Given the description of an element on the screen output the (x, y) to click on. 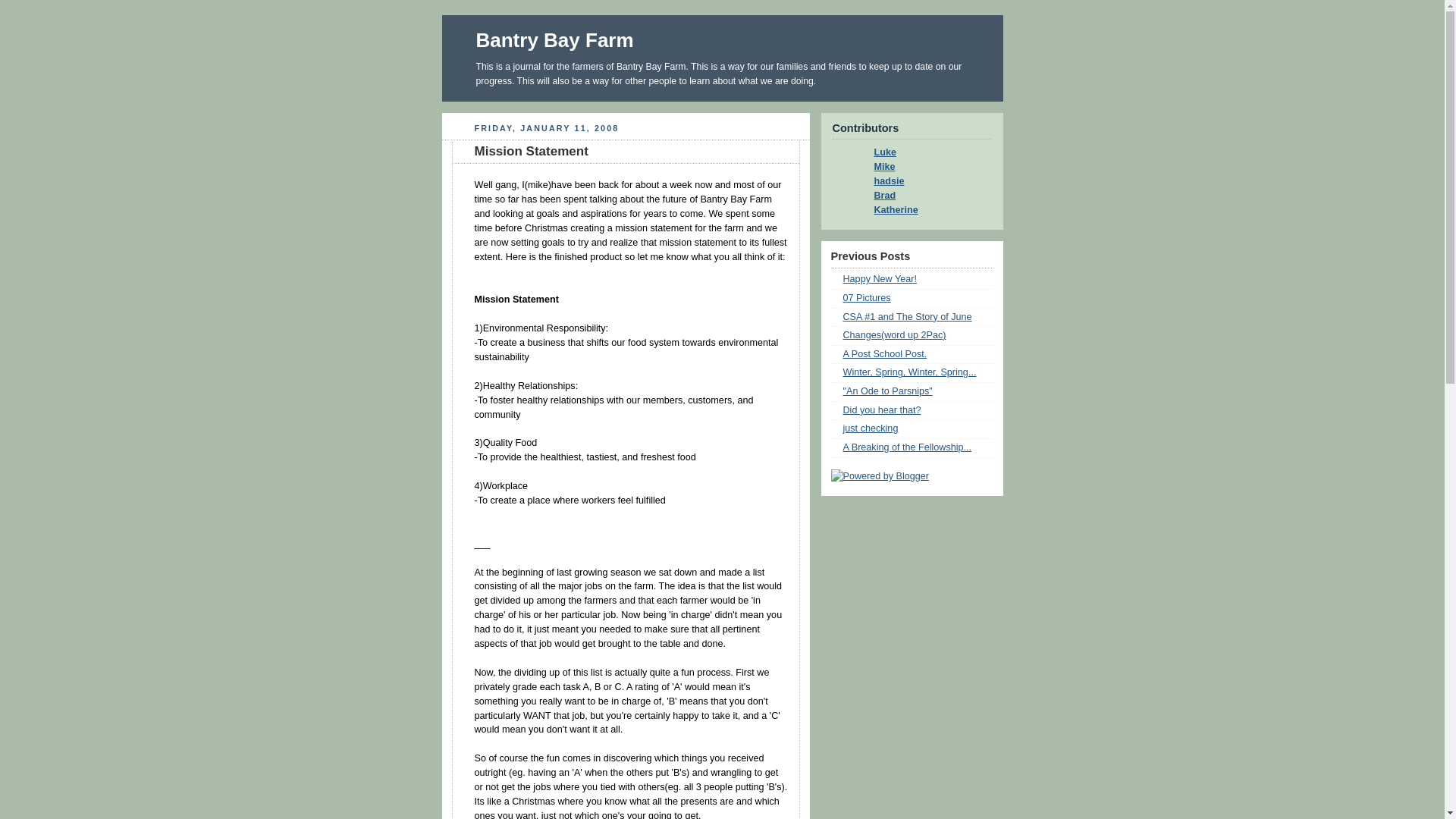
CSA #1 and The Story of June Element type: text (907, 316)
A Post School Post. Element type: text (885, 353)
Did you hear that? Element type: text (882, 409)
07 Pictures Element type: text (867, 297)
Brad Element type: text (879, 195)
Changes(word up 2Pac) Element type: text (894, 334)
"An Ode to Parsnips" Element type: text (887, 390)
Luke Element type: text (879, 152)
Katherine Element type: text (890, 209)
Happy New Year! Element type: text (879, 278)
Mike Element type: text (878, 166)
Bantry Bay Farm Element type: text (554, 39)
just checking Element type: text (870, 428)
Winter, Spring, Winter, Spring... Element type: text (909, 372)
A Breaking of the Fellowship... Element type: text (907, 447)
hadsie Element type: text (883, 180)
